Given the description of an element on the screen output the (x, y) to click on. 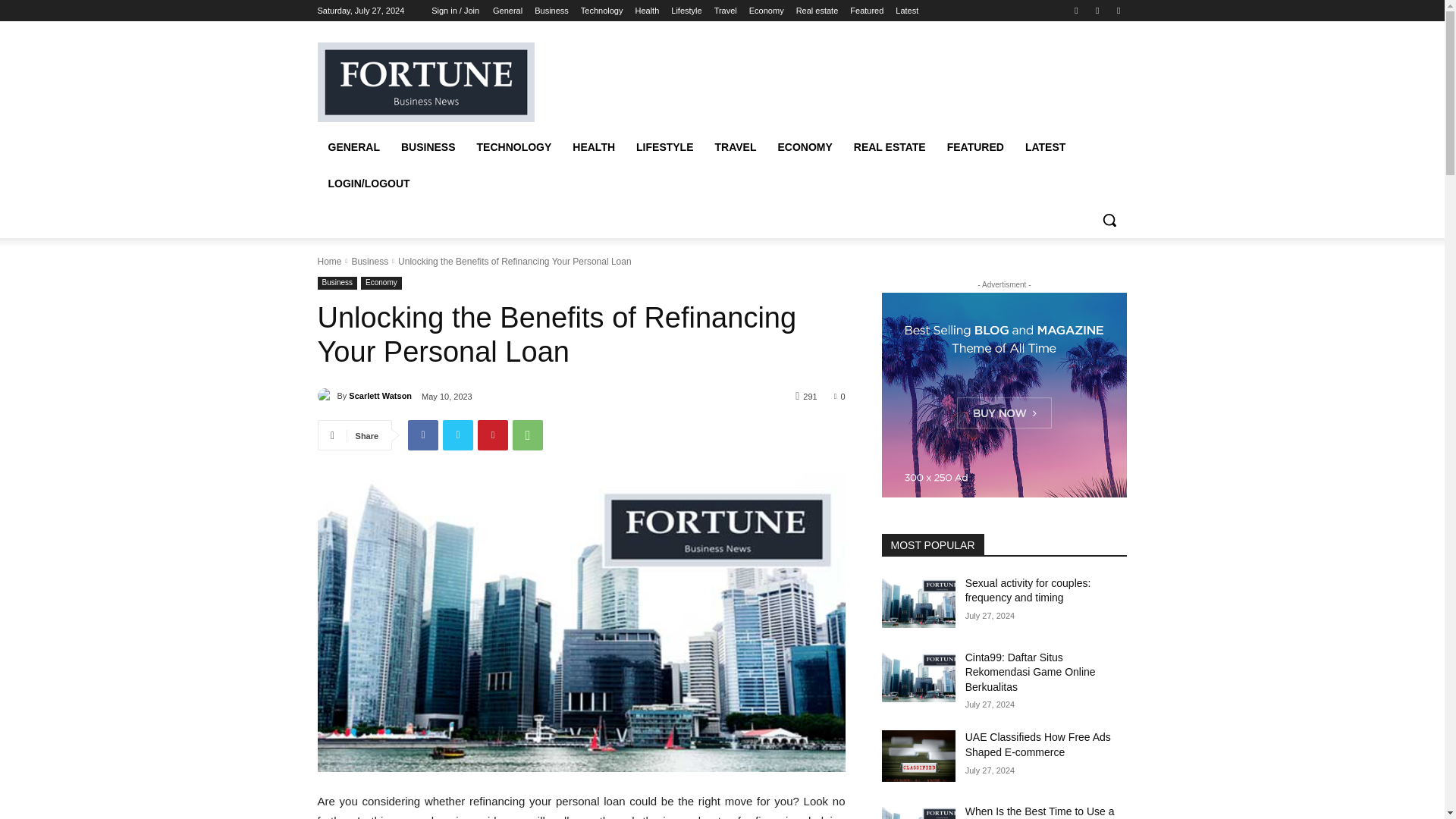
TECHNOLOGY (513, 146)
Lifestyle (686, 10)
Facebook (1075, 9)
Technology (601, 10)
LIFESTYLE (664, 146)
HEALTH (594, 146)
Twitter (1097, 9)
Featured (866, 10)
Scarlett Watson (326, 395)
Latest (906, 10)
GENERAL (353, 146)
General (507, 10)
Economy (766, 10)
Travel (725, 10)
